Given the description of an element on the screen output the (x, y) to click on. 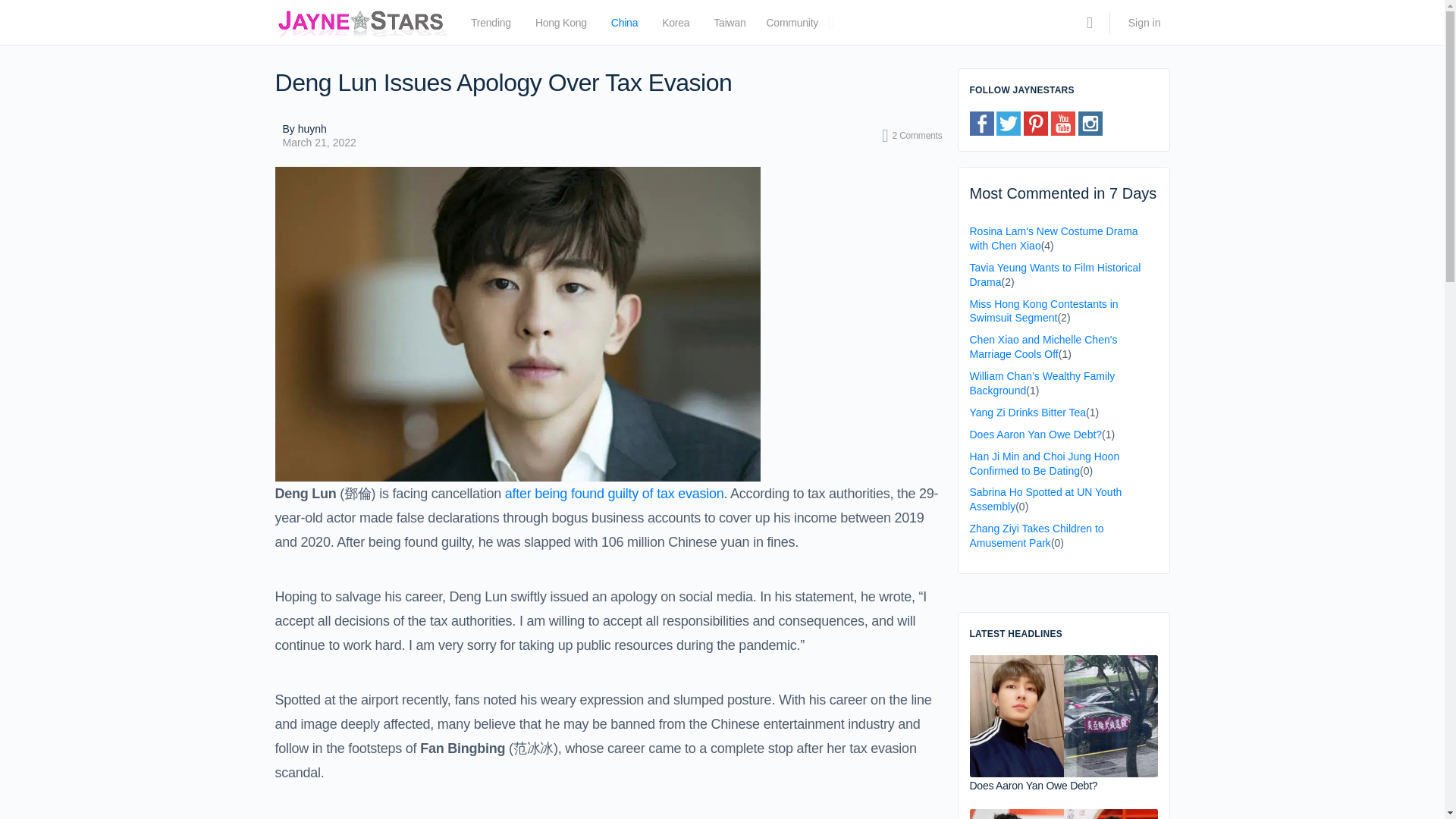
Sign in (1144, 22)
after being found guilty of tax evasion (614, 493)
Twitter (1007, 122)
Pinterest (1035, 122)
March 21, 2022 (318, 142)
Community (791, 25)
Youtube (1063, 122)
Facebook (980, 122)
Hong Kong (560, 25)
By huynh (318, 128)
